Given the description of an element on the screen output the (x, y) to click on. 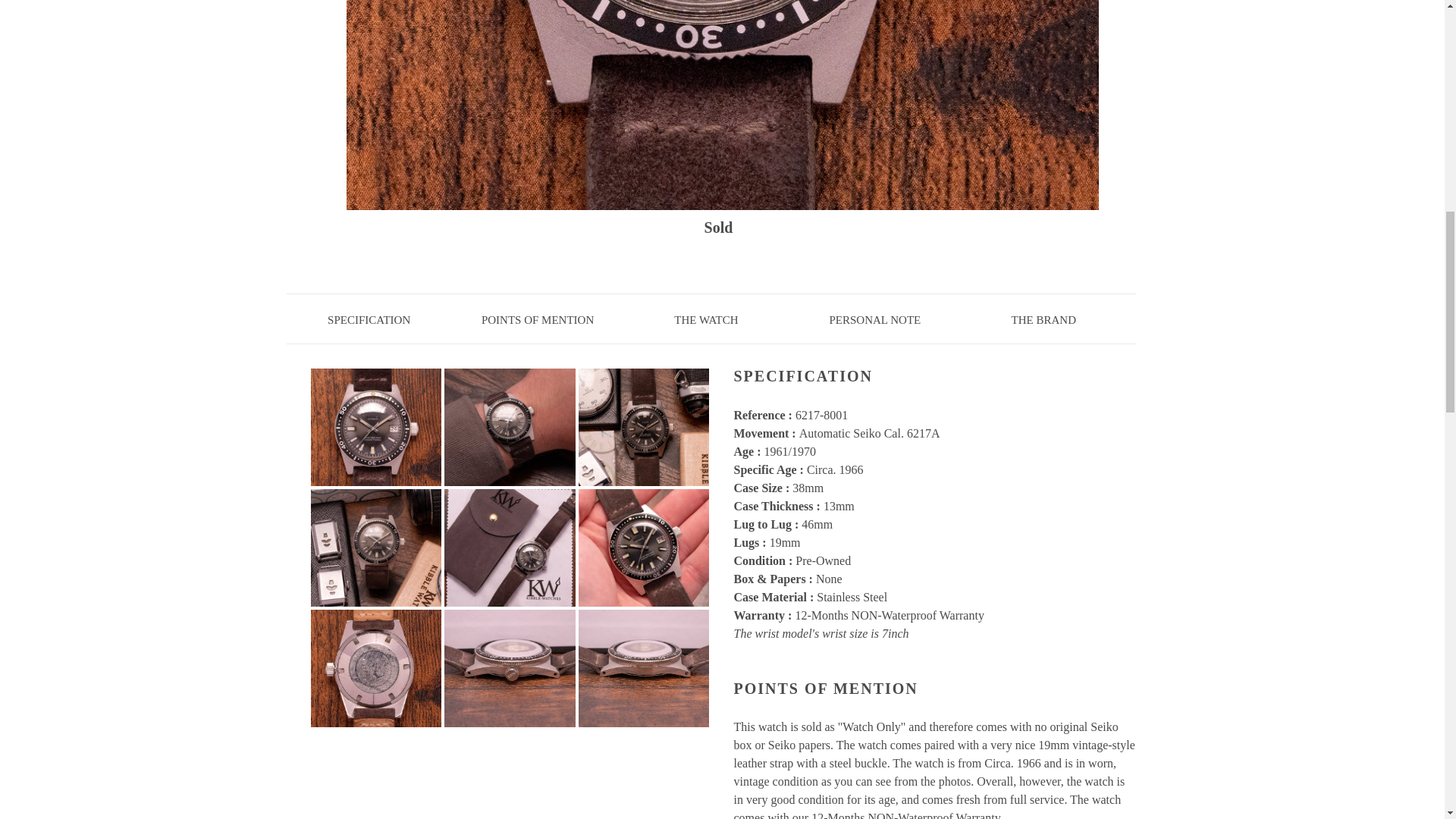
SPECIFICATION (369, 319)
THE BRAND (1042, 319)
THE WATCH (705, 319)
POINTS OF MENTION (536, 319)
PERSONAL NOTE (874, 319)
